Given the description of an element on the screen output the (x, y) to click on. 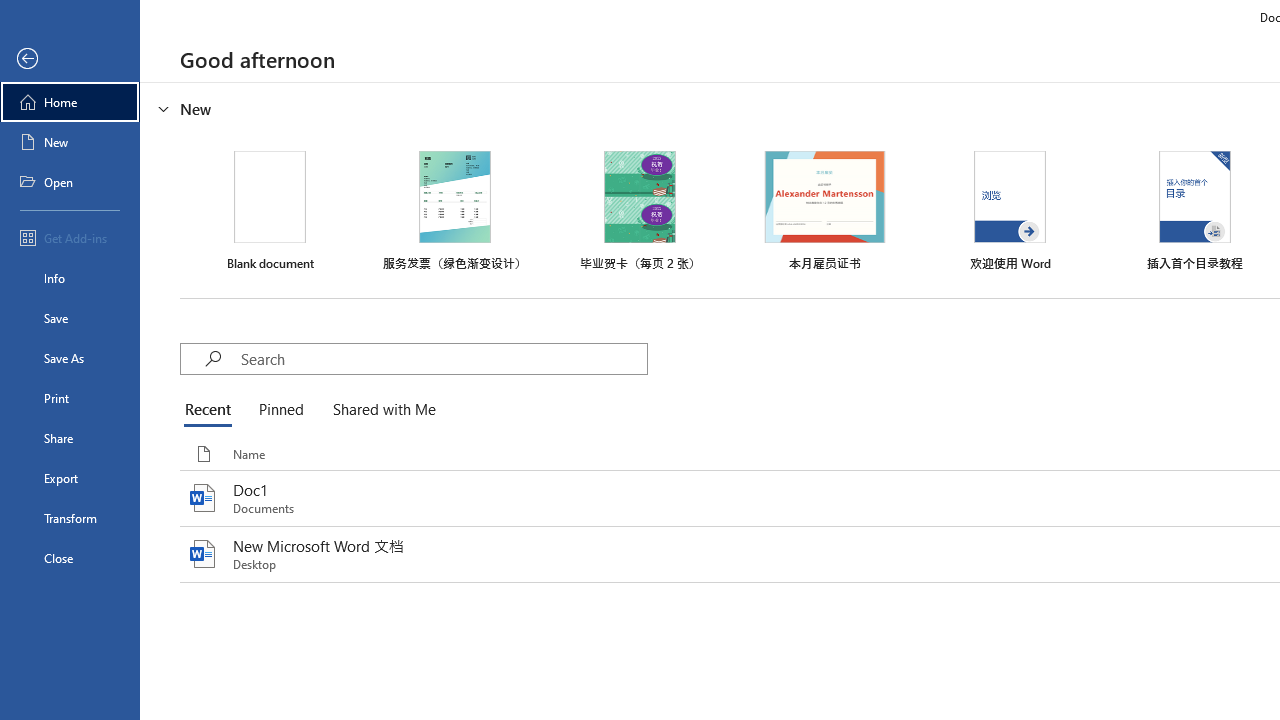
New (69, 141)
Print (69, 398)
Hide or show region (164, 108)
